Given the description of an element on the screen output the (x, y) to click on. 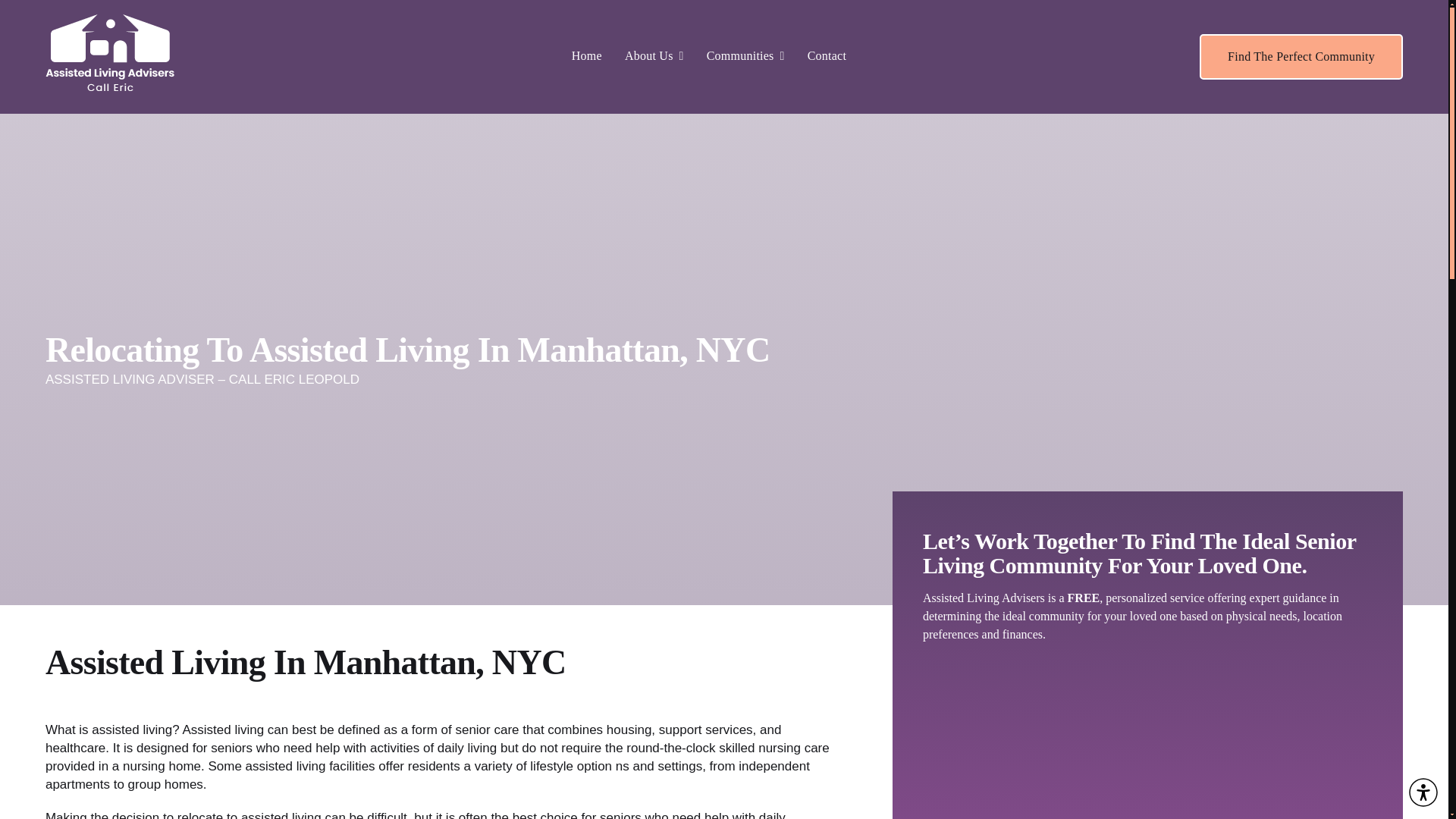
Accessibility Menu (1422, 792)
Contact (826, 56)
Vimeo video player 1 (1148, 739)
About Us (654, 56)
Find The Perfect Community (1301, 56)
Communities (745, 56)
Home (587, 56)
